Given the description of an element on the screen output the (x, y) to click on. 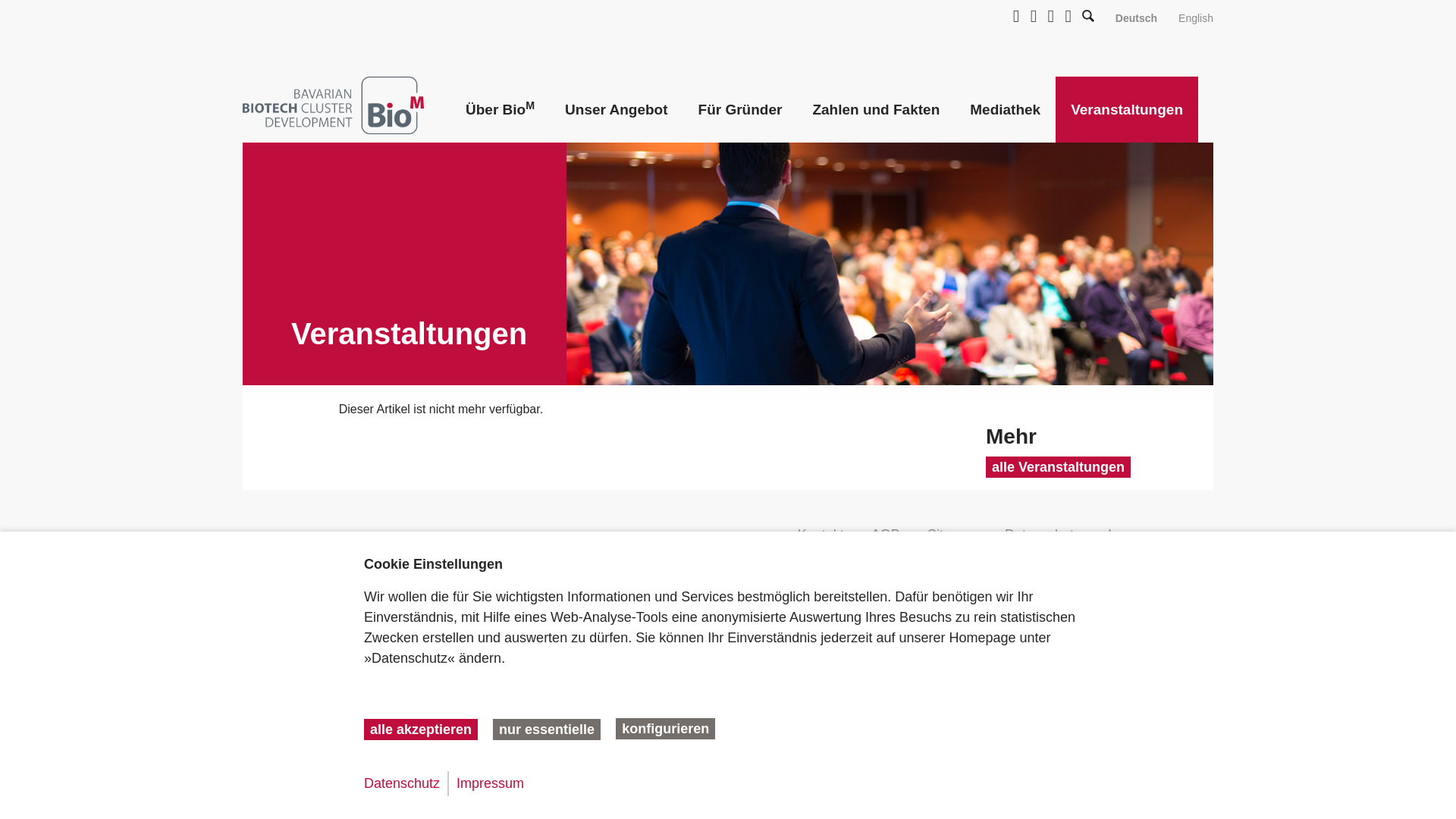
Suche (1087, 15)
Unser Angebot (616, 109)
Suchen (947, 2)
konfigurieren (664, 728)
English (1194, 18)
